Given the description of an element on the screen output the (x, y) to click on. 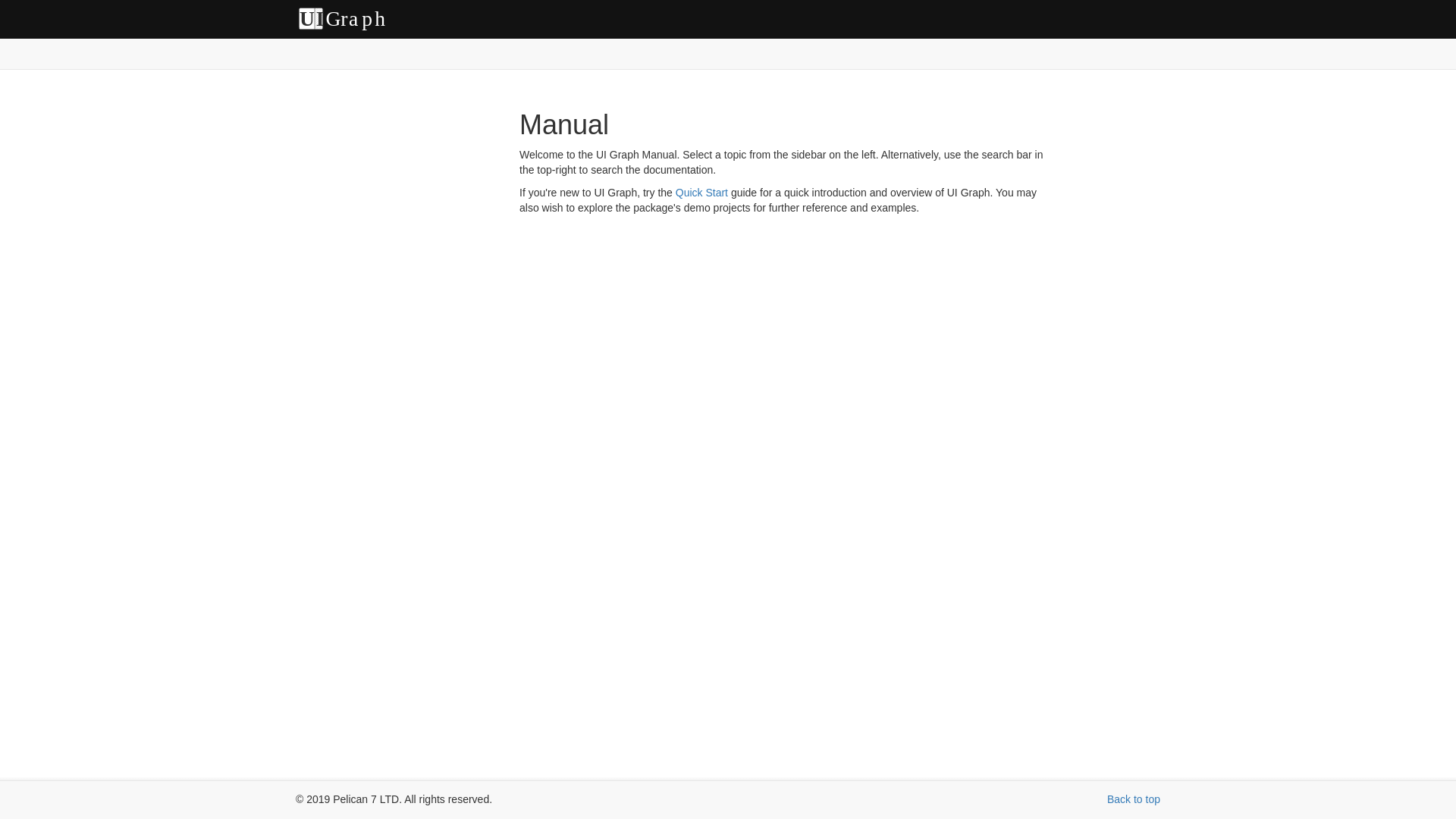
Quick Start (346, 18)
Back to top (701, 192)
